Given the description of an element on the screen output the (x, y) to click on. 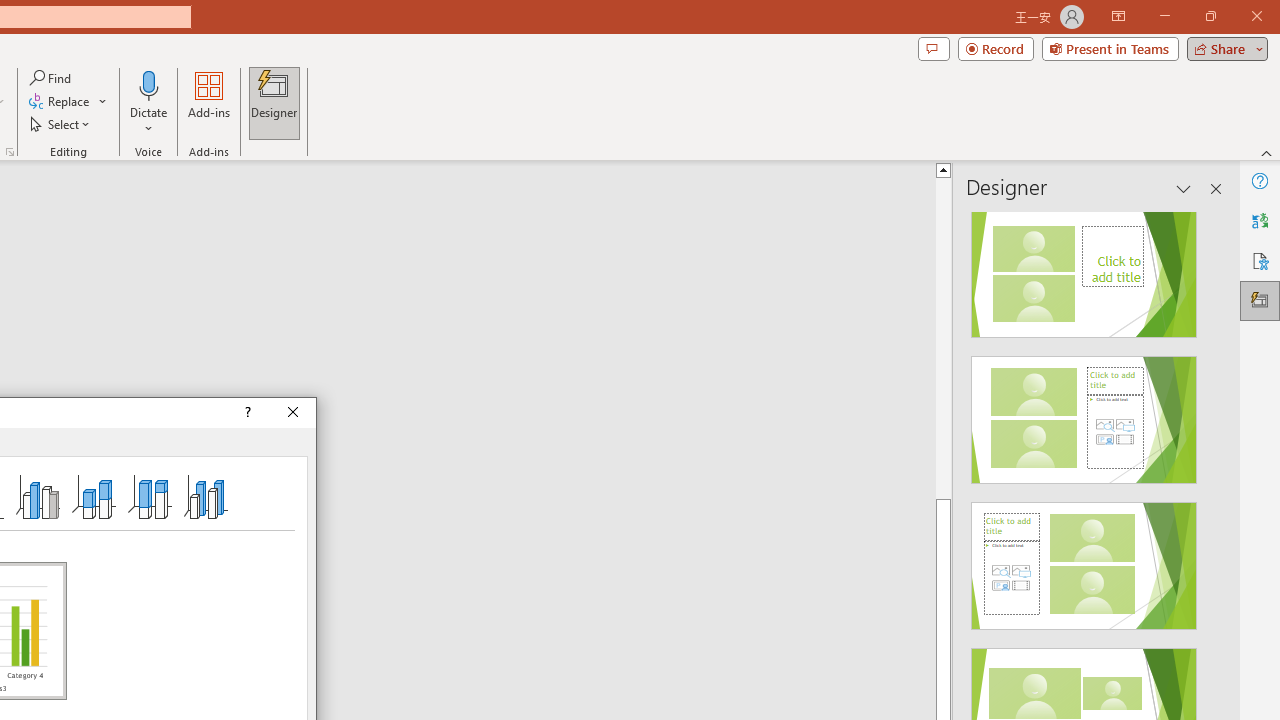
3-D Stacked Column (93, 496)
3-D Clustered Column (38, 496)
